Given the description of an element on the screen output the (x, y) to click on. 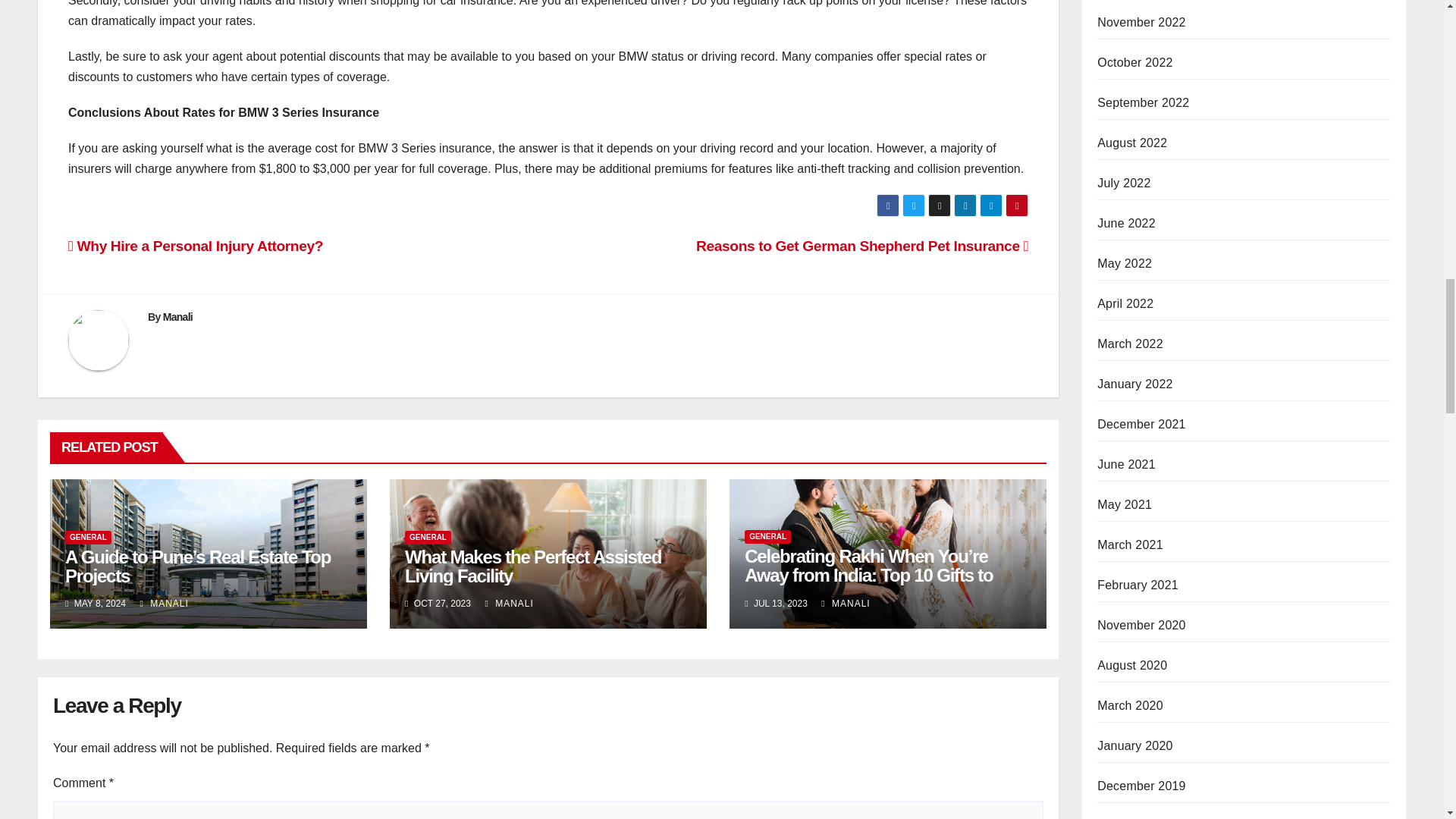
Why Hire a Personal Injury Attorney? (195, 245)
GENERAL (767, 536)
MANALI (508, 603)
MANALI (163, 603)
Reasons to Get German Shepherd Pet Insurance (861, 245)
Manali (177, 316)
GENERAL (427, 537)
GENERAL (88, 537)
What Makes the Perfect Assisted Living Facility  (532, 566)
